Given the description of an element on the screen output the (x, y) to click on. 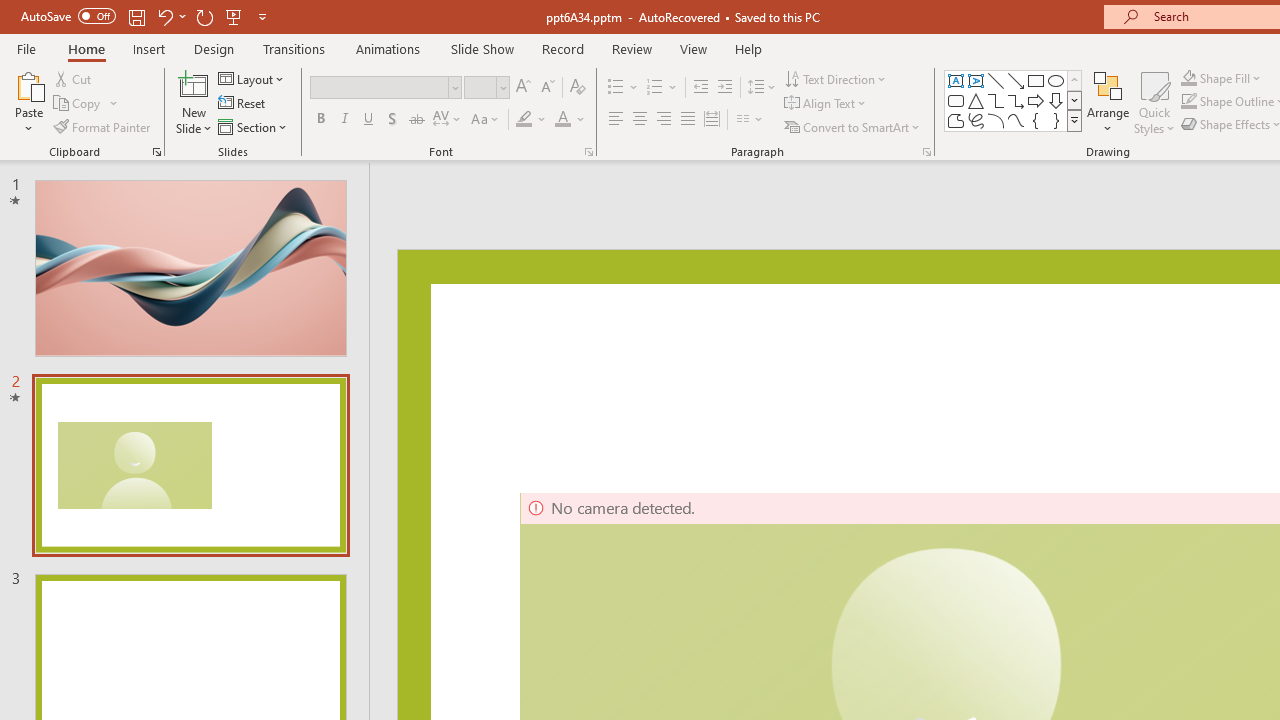
Clear Formatting (577, 87)
Strikethrough (416, 119)
Arrow: Right (1035, 100)
Copy (85, 103)
Numbering (654, 87)
Shadow (392, 119)
Office Clipboard... (156, 151)
View (693, 48)
Paste (28, 102)
Design (214, 48)
Font Color (569, 119)
Font (379, 87)
Increase Font Size (522, 87)
